Given the description of an element on the screen output the (x, y) to click on. 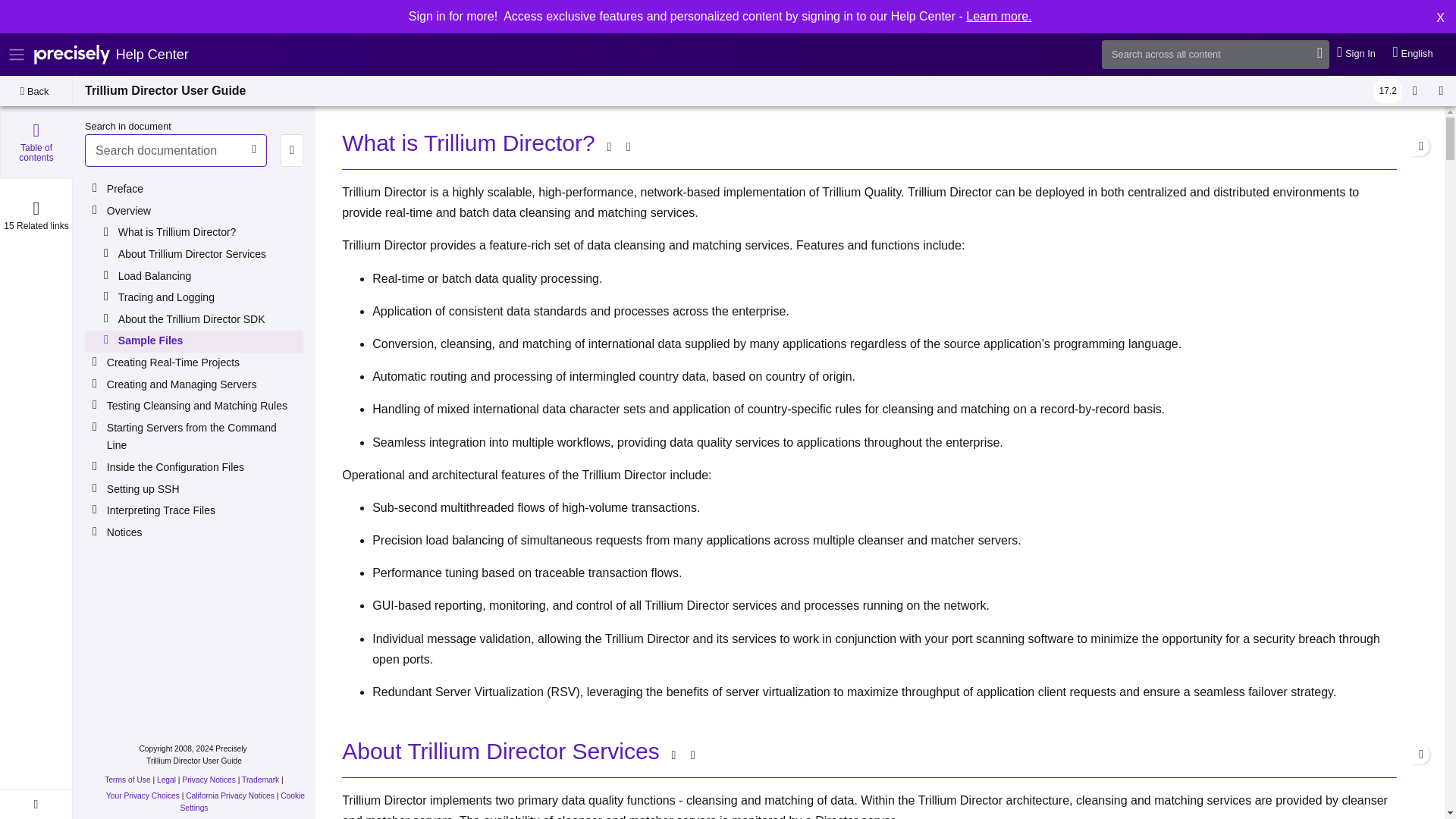
Back (35, 91)
What is Trillium Director? (208, 233)
Table of contents (36, 142)
Sign In (1358, 53)
Back to homepage (111, 54)
English (1414, 53)
Overview (202, 211)
Version: 17.2 (1387, 90)
Trillium Director User Guide (165, 90)
Load Balancing (208, 276)
